Given the description of an element on the screen output the (x, y) to click on. 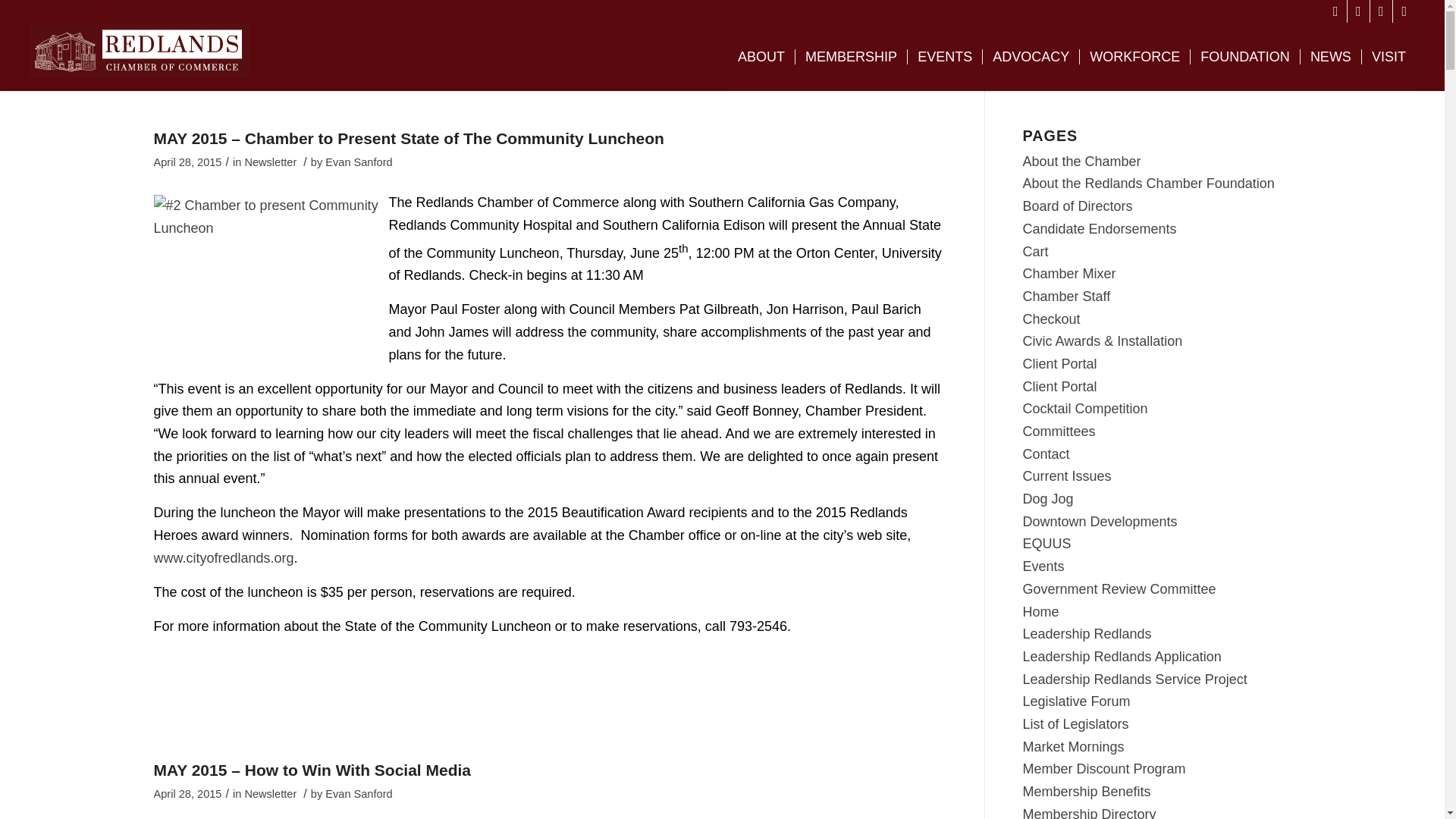
Posts by Evan Sanford (357, 162)
Twitter (1359, 11)
LinkedIn (1404, 11)
Posts by Evan Sanford (357, 793)
EVENTS (944, 56)
Instagram (1380, 11)
ABOUT (761, 56)
MEMBERSHIP (850, 56)
Facebook (1335, 11)
WORKFORCE (1133, 56)
ADVOCACY (1029, 56)
